Given the description of an element on the screen output the (x, y) to click on. 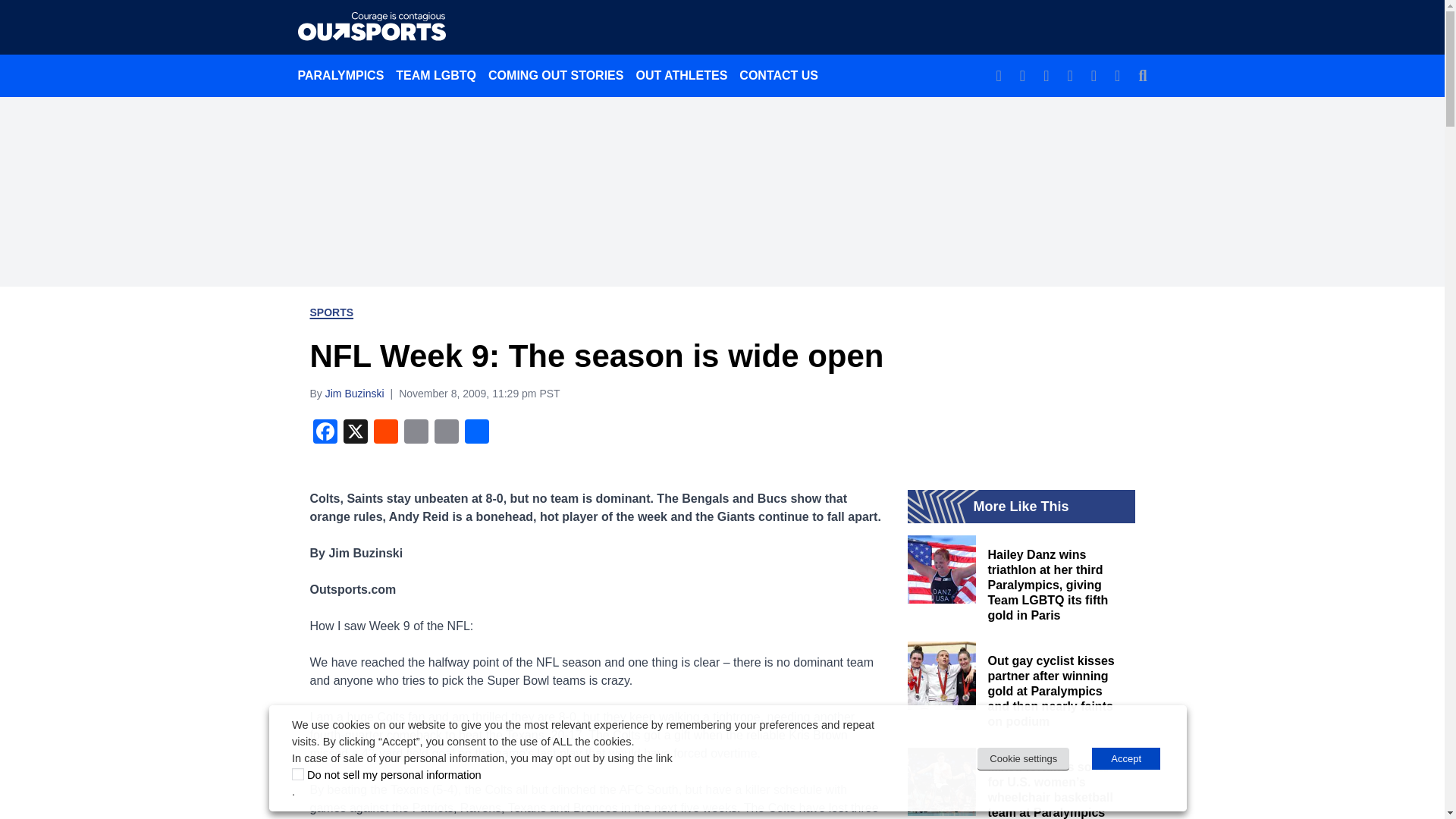
Copy Link (445, 433)
Share (476, 433)
Facebook (323, 433)
CONTACT US (778, 75)
on (298, 774)
Reddit (384, 433)
COMING OUT STORIES (554, 75)
Copy Link (445, 433)
